Given the description of an element on the screen output the (x, y) to click on. 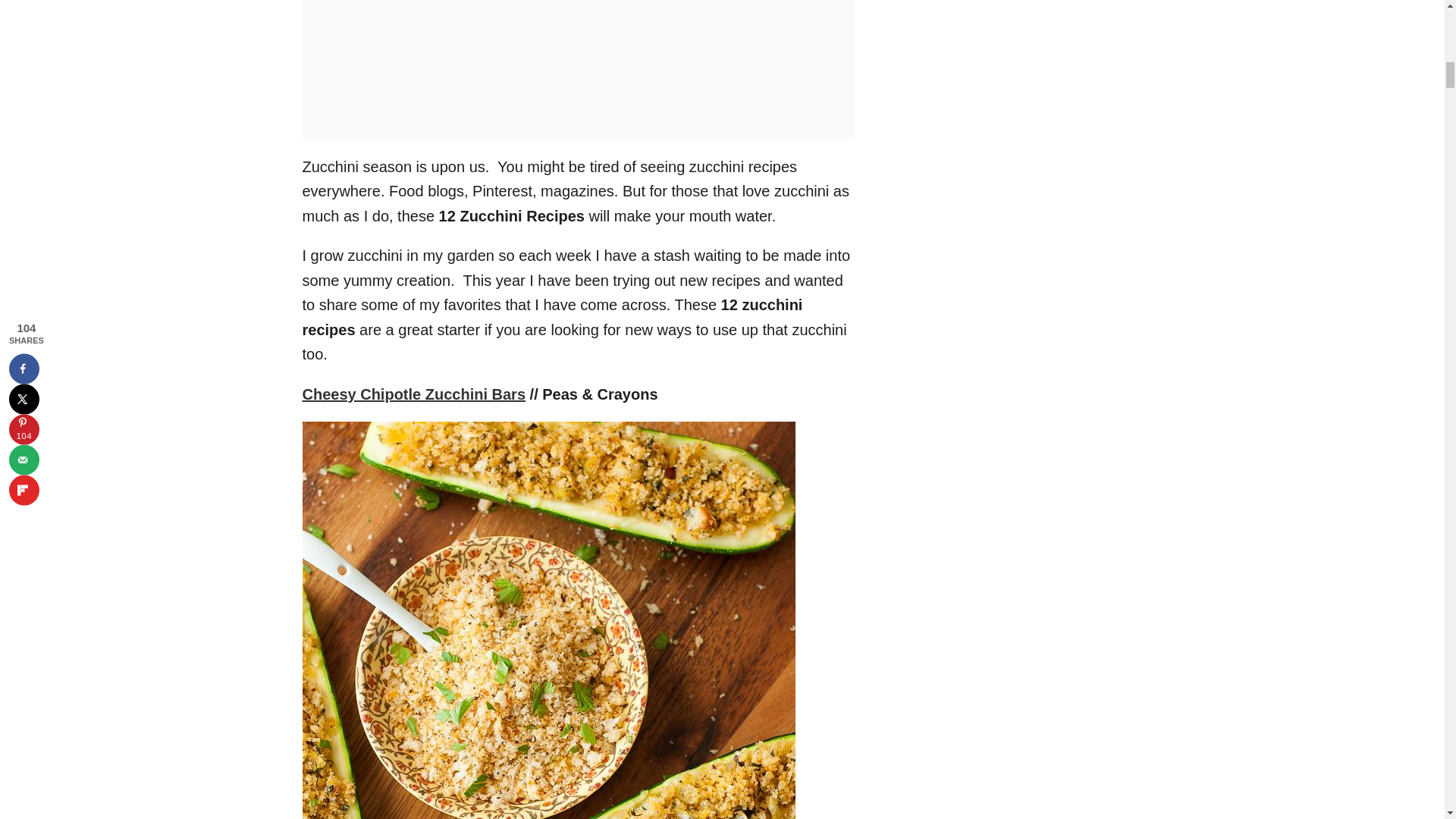
Cheesy Chipotle Zucchini Bars (413, 393)
